Given the description of an element on the screen output the (x, y) to click on. 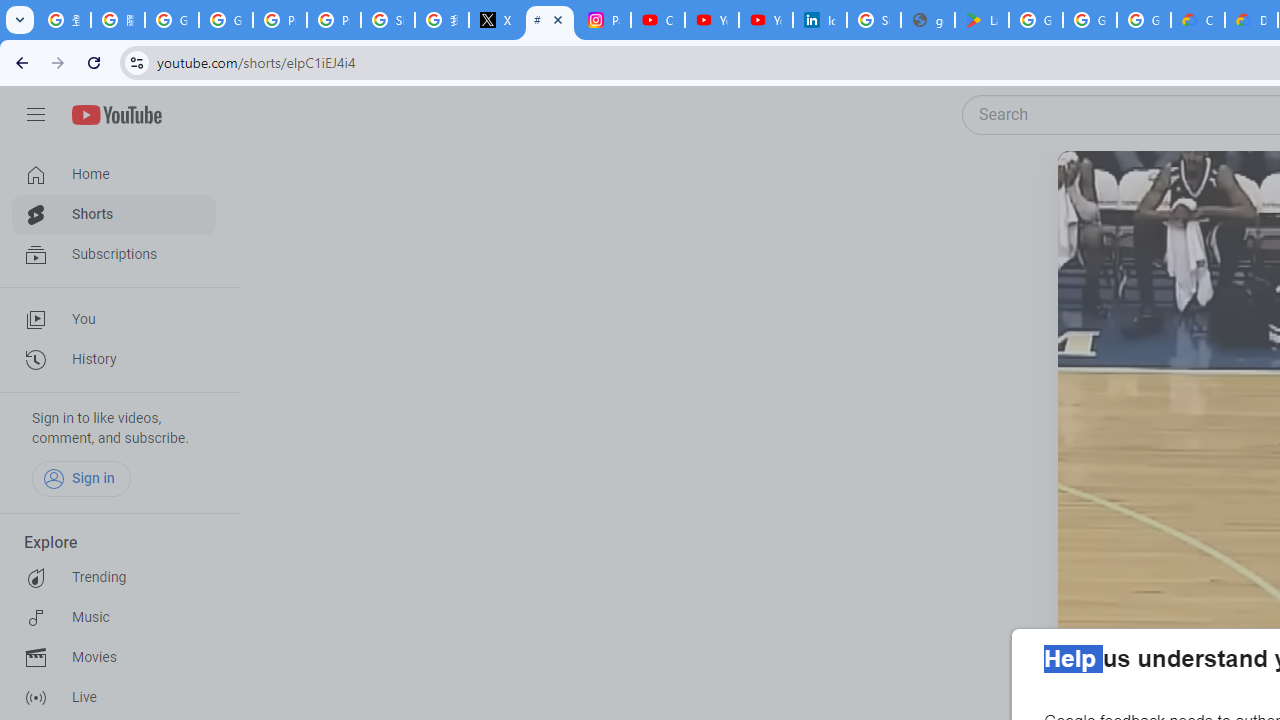
History (113, 359)
#nbabasketballhighlights - YouTube (550, 20)
Mute (1154, 191)
Shorts (113, 214)
Last Shelter: Survival - Apps on Google Play (981, 20)
